Given the description of an element on the screen output the (x, y) to click on. 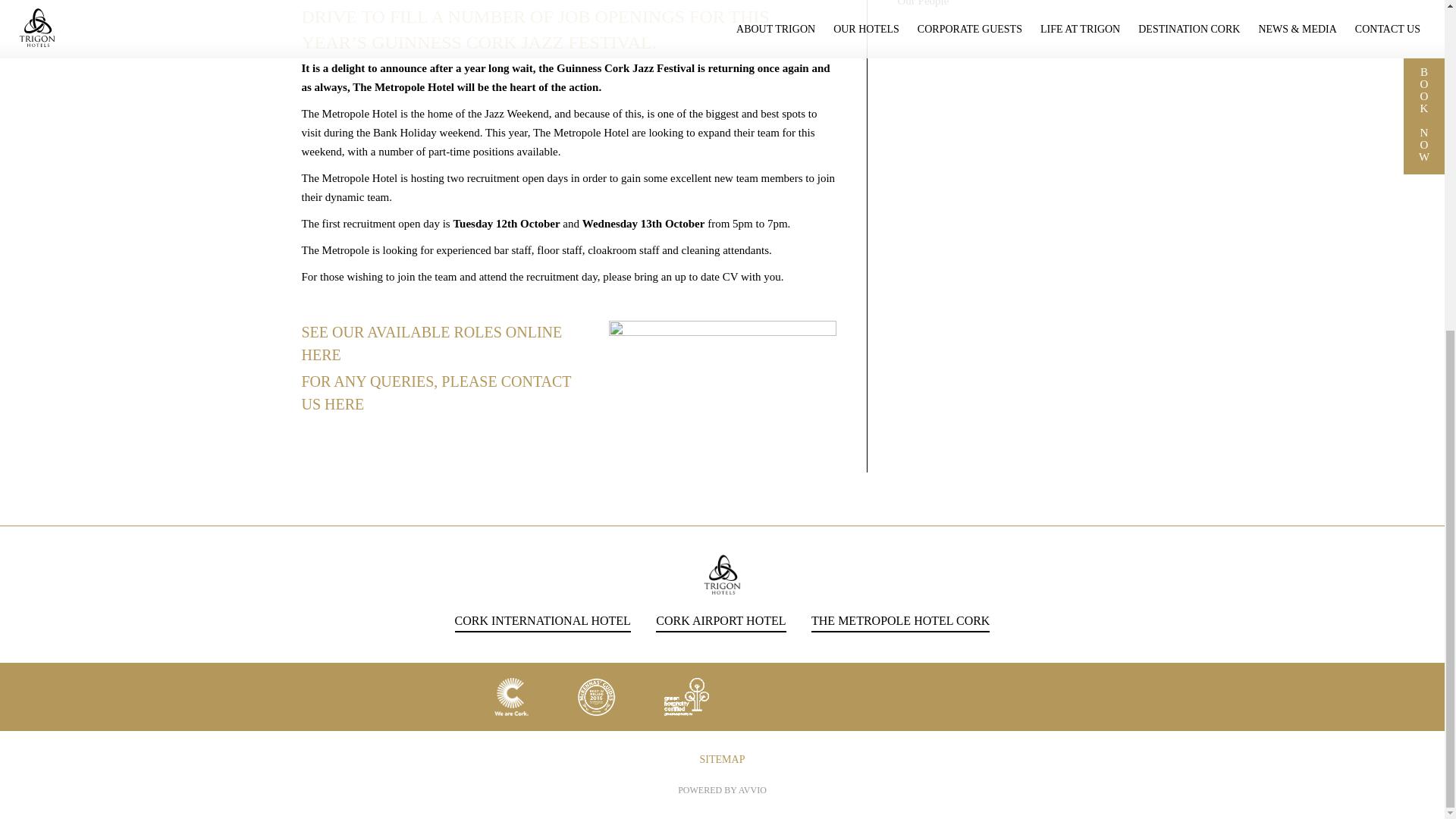
Hotel Booking Engine Provider (722, 789)
